Given the description of an element on the screen output the (x, y) to click on. 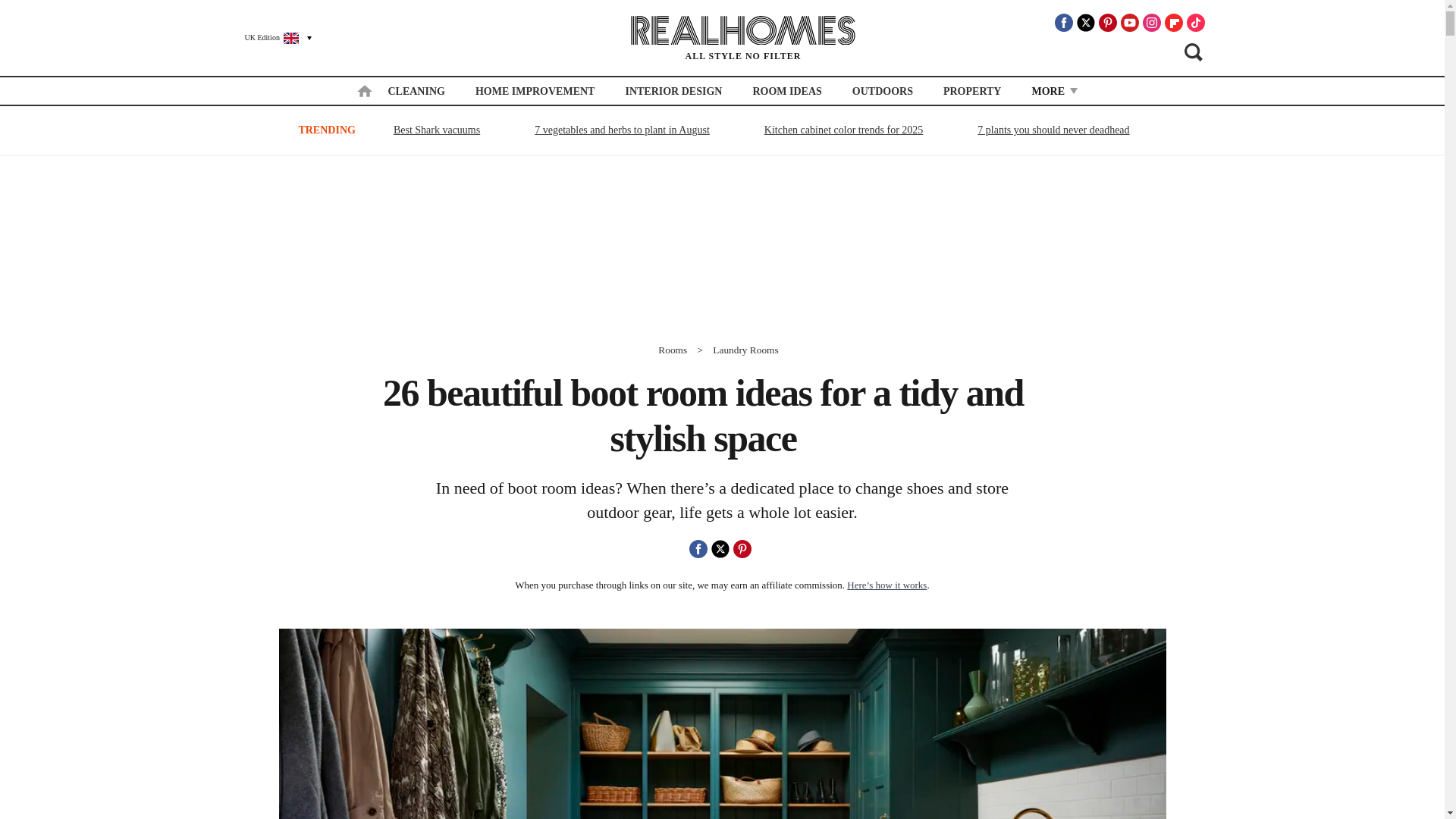
INTERIOR DESIGN (673, 90)
7 plants you should never deadhead (1053, 129)
Kitchen cabinet color trends for 2025 (843, 129)
ROOM IDEAS (786, 90)
OUTDOORS (881, 90)
ALL STYLE NO FILTER (742, 38)
Laundry Rooms (745, 349)
Best Shark vacuums (436, 129)
Rooms (672, 349)
UK Edition (271, 37)
